Given the description of an element on the screen output the (x, y) to click on. 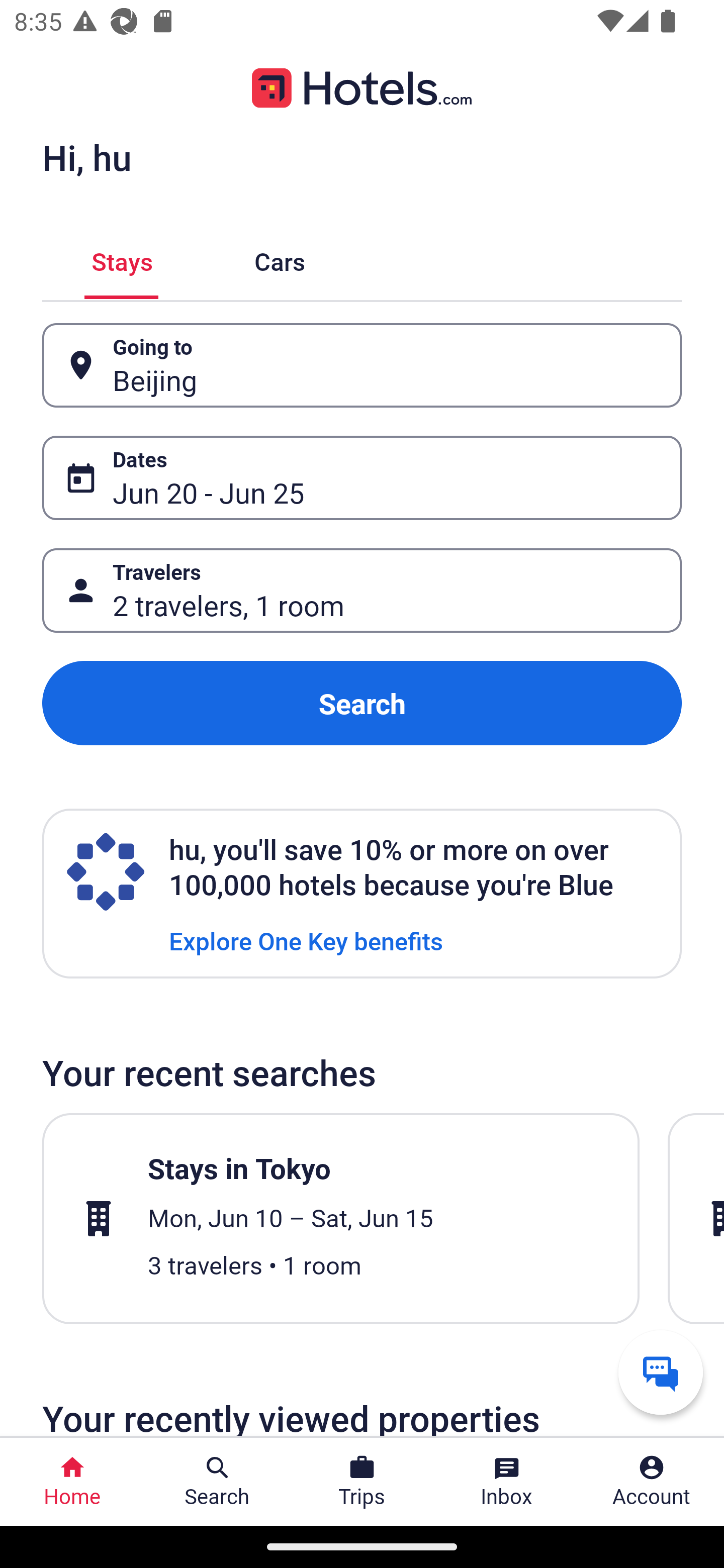
Hi, hu (86, 156)
Cars (279, 259)
Going to Button Beijing (361, 365)
Dates Button Jun 20 - Jun 25 (361, 477)
Travelers Button 2 travelers, 1 room (361, 590)
Search (361, 702)
Get help from a virtual agent (660, 1371)
Search Search Button (216, 1481)
Trips Trips Button (361, 1481)
Inbox Inbox Button (506, 1481)
Account Profile. Button (651, 1481)
